Given the description of an element on the screen output the (x, y) to click on. 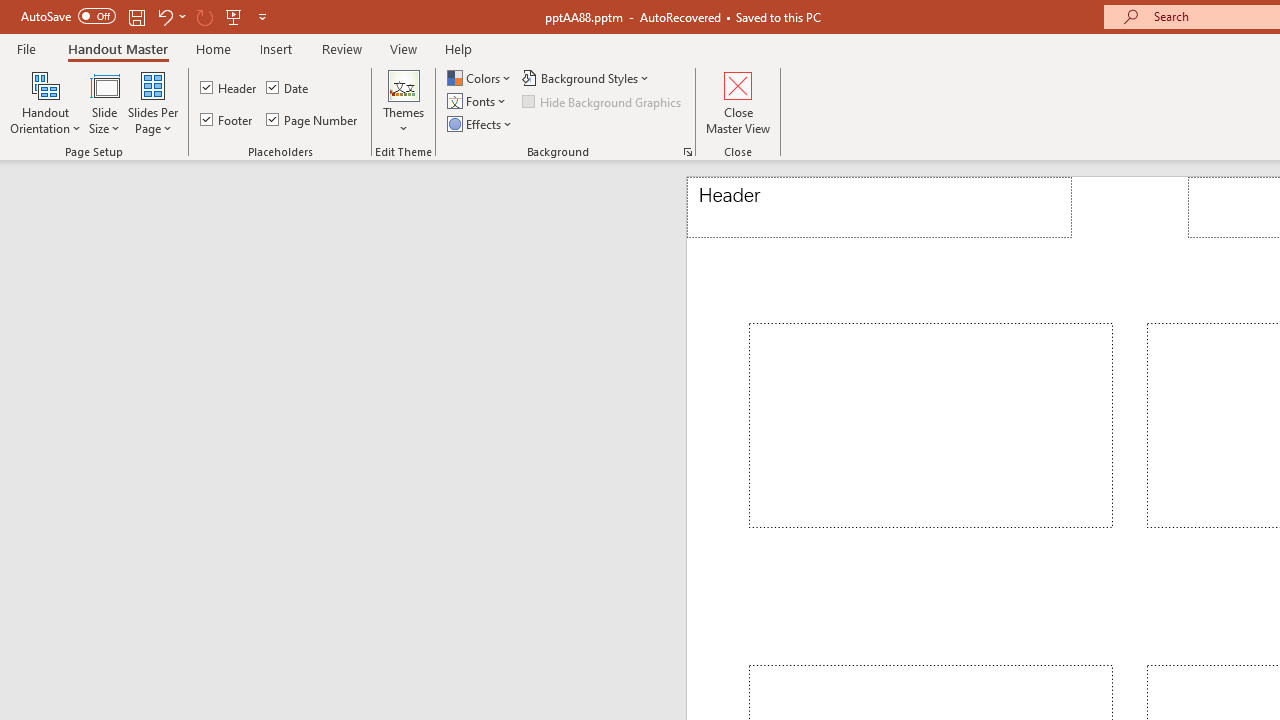
Close Master View (738, 102)
Footer (227, 119)
Format Background... (687, 151)
Hide Background Graphics (603, 101)
Header (879, 207)
Background Styles (586, 78)
